Given the description of an element on the screen output the (x, y) to click on. 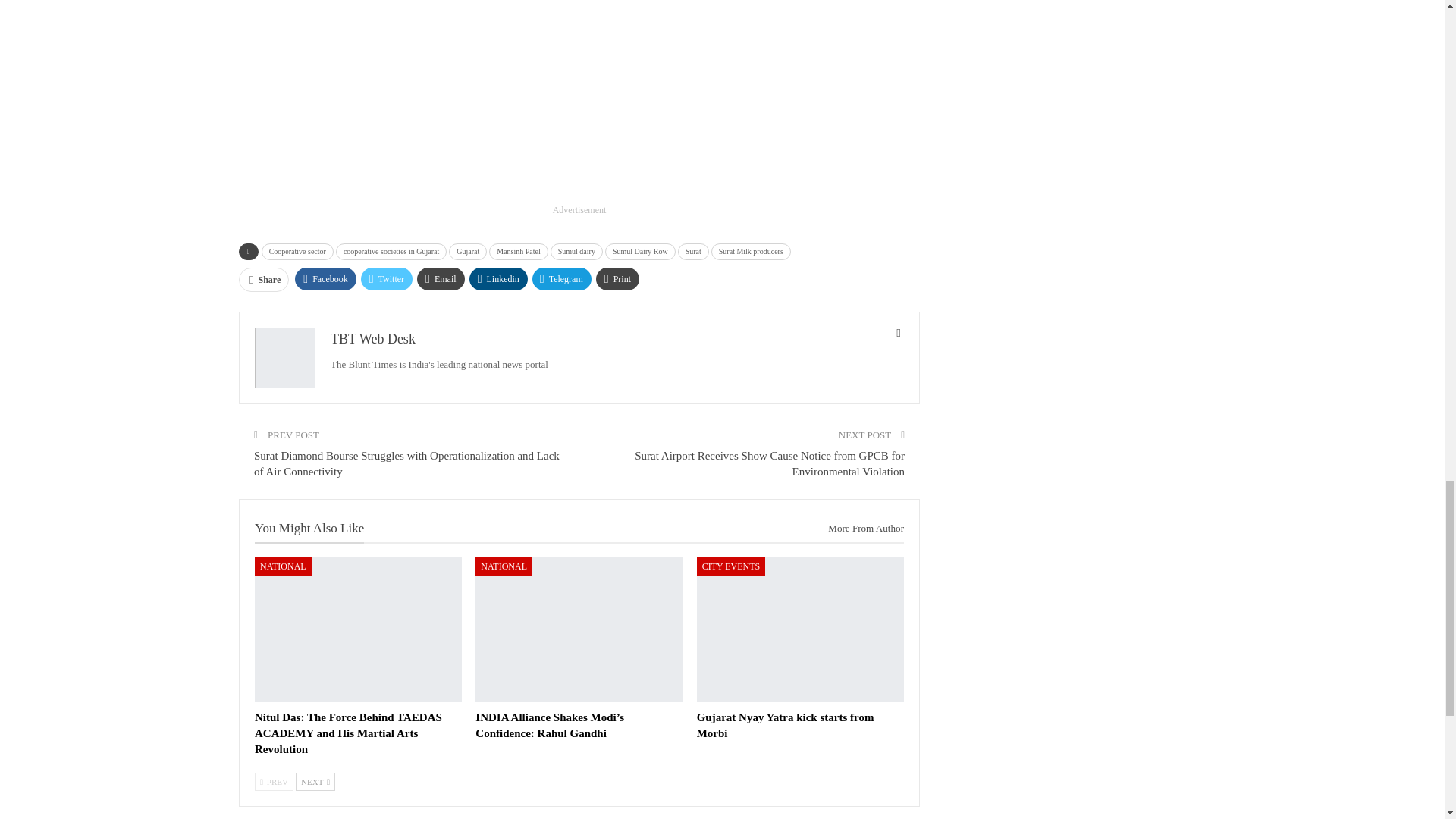
Previous (274, 782)
Next (314, 782)
